Given the description of an element on the screen output the (x, y) to click on. 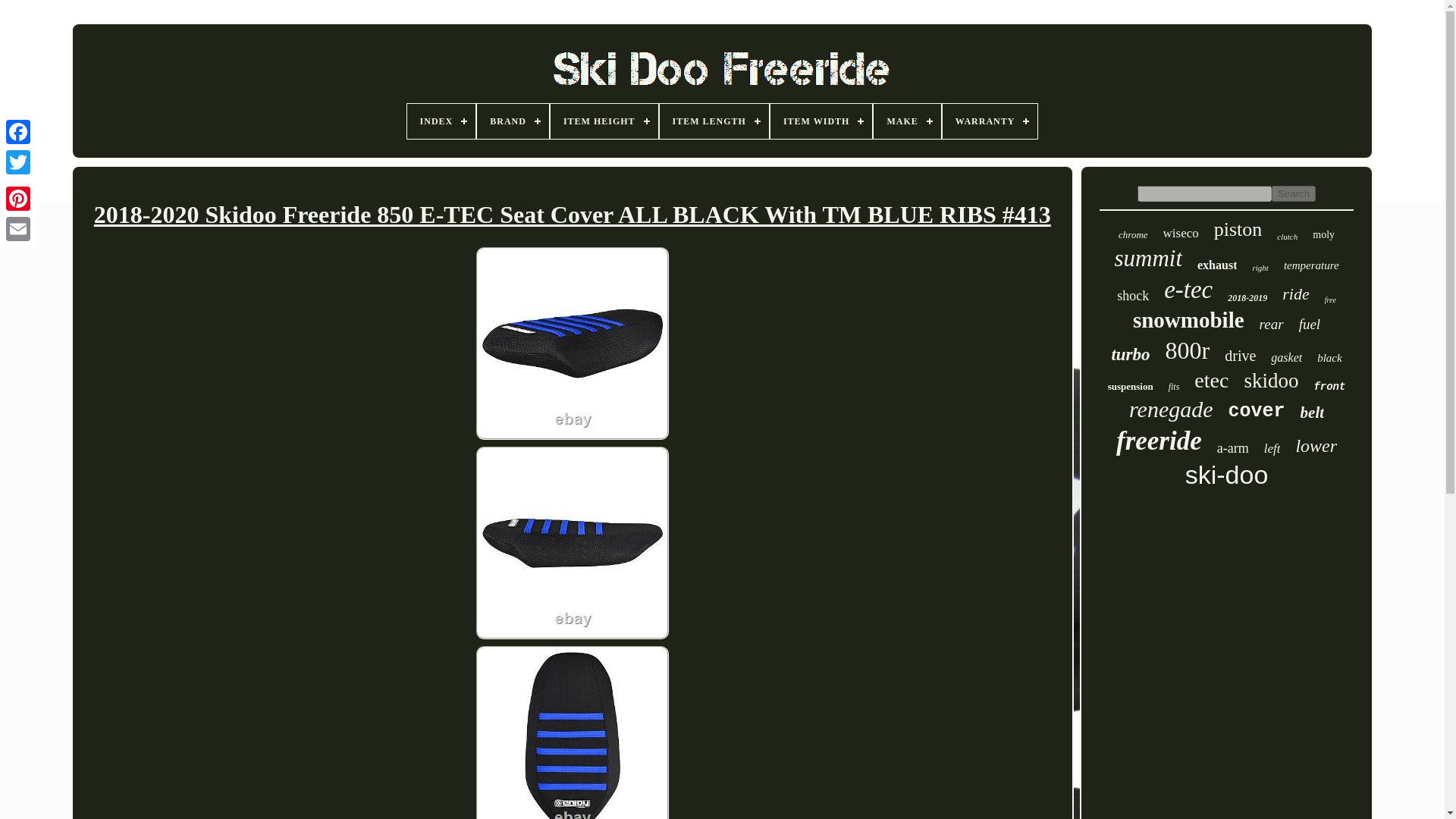
BRAND (512, 121)
ITEM LENGTH (713, 121)
ITEM HEIGHT (604, 121)
Search (1293, 193)
INDEX (441, 121)
